Given the description of an element on the screen output the (x, y) to click on. 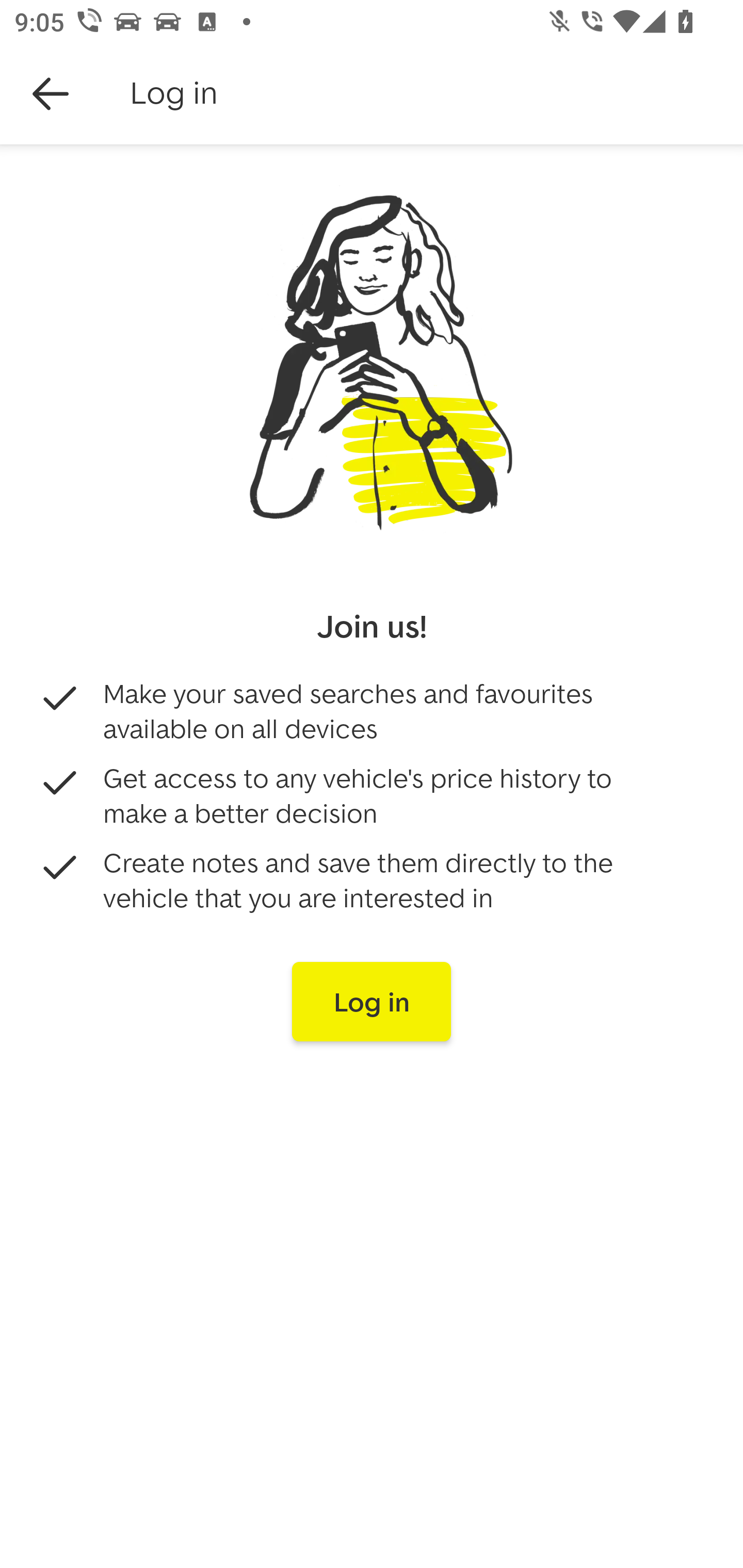
Navigate up (50, 93)
Log in (371, 1001)
